Given the description of an element on the screen output the (x, y) to click on. 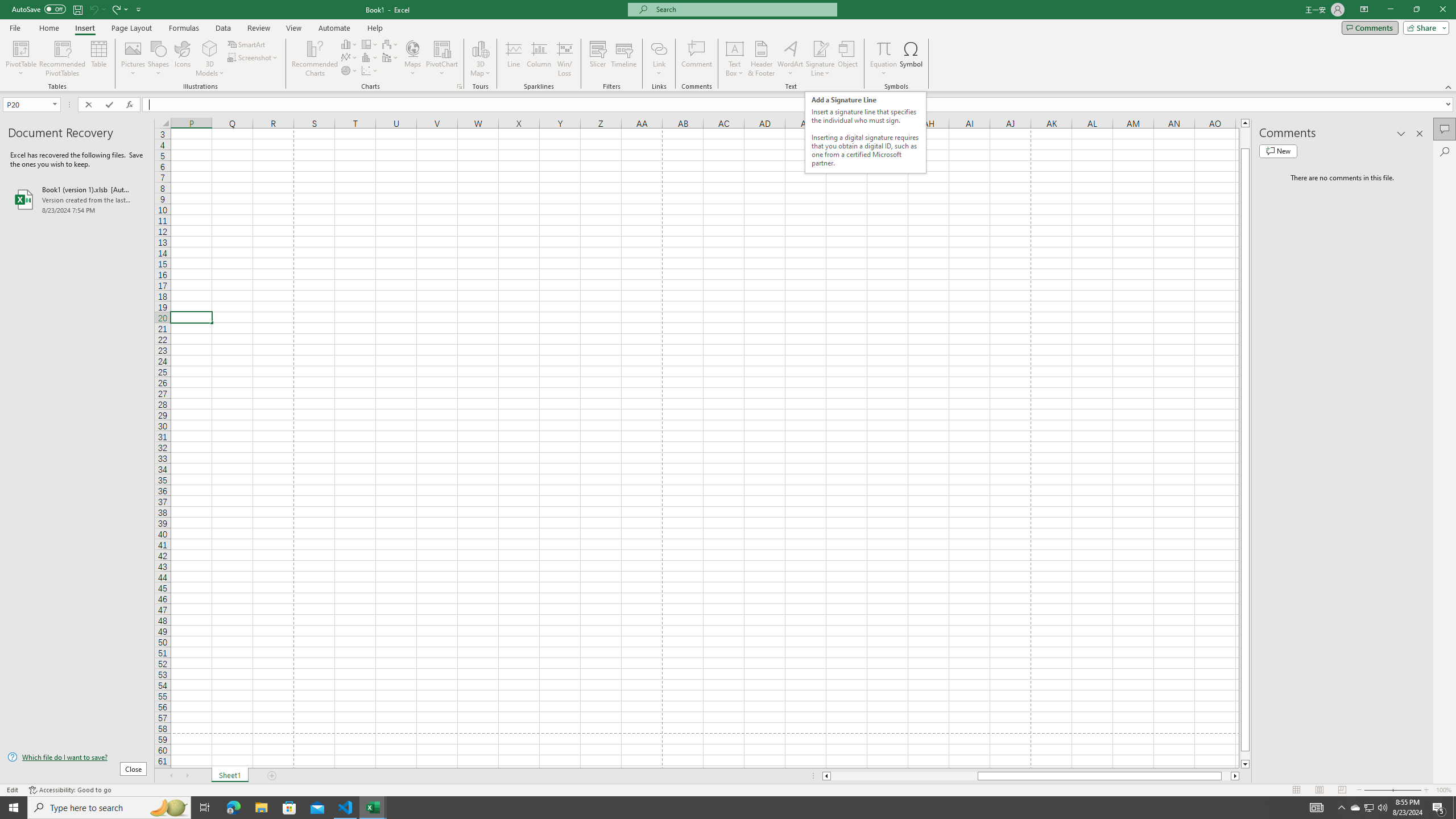
New comment (1278, 151)
Insert Waterfall, Funnel, Stock, Surface, or Radar Chart (390, 44)
Slicer... (597, 58)
Timeline (623, 58)
